Given the description of an element on the screen output the (x, y) to click on. 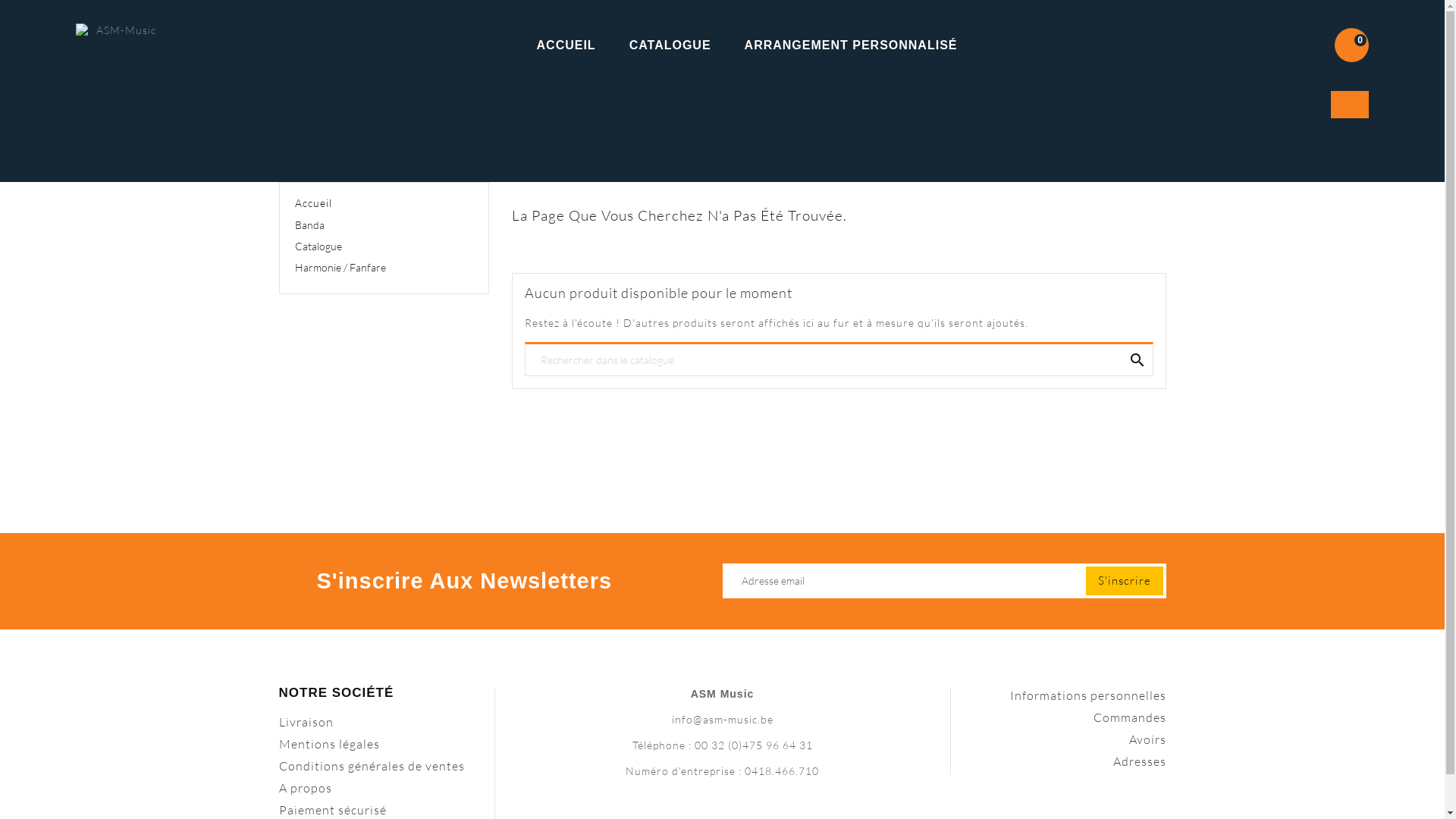
S'inscrire Element type: text (1124, 580)
Banda Element type: text (383, 224)
CATALOGUE Element type: text (670, 45)
Catalogue Element type: text (383, 246)
Avoirs Element type: text (1146, 738)
Accueil Element type: text (383, 202)
Livraison Element type: text (306, 721)
Commandes Element type: text (1129, 716)
ACCUEIL Element type: text (566, 45)
Informations personnelles Element type: text (1088, 694)
A propos Element type: text (305, 787)
Adresses Element type: text (1139, 760)
Harmonie / Fanfare Element type: text (383, 267)
